Given the description of an element on the screen output the (x, y) to click on. 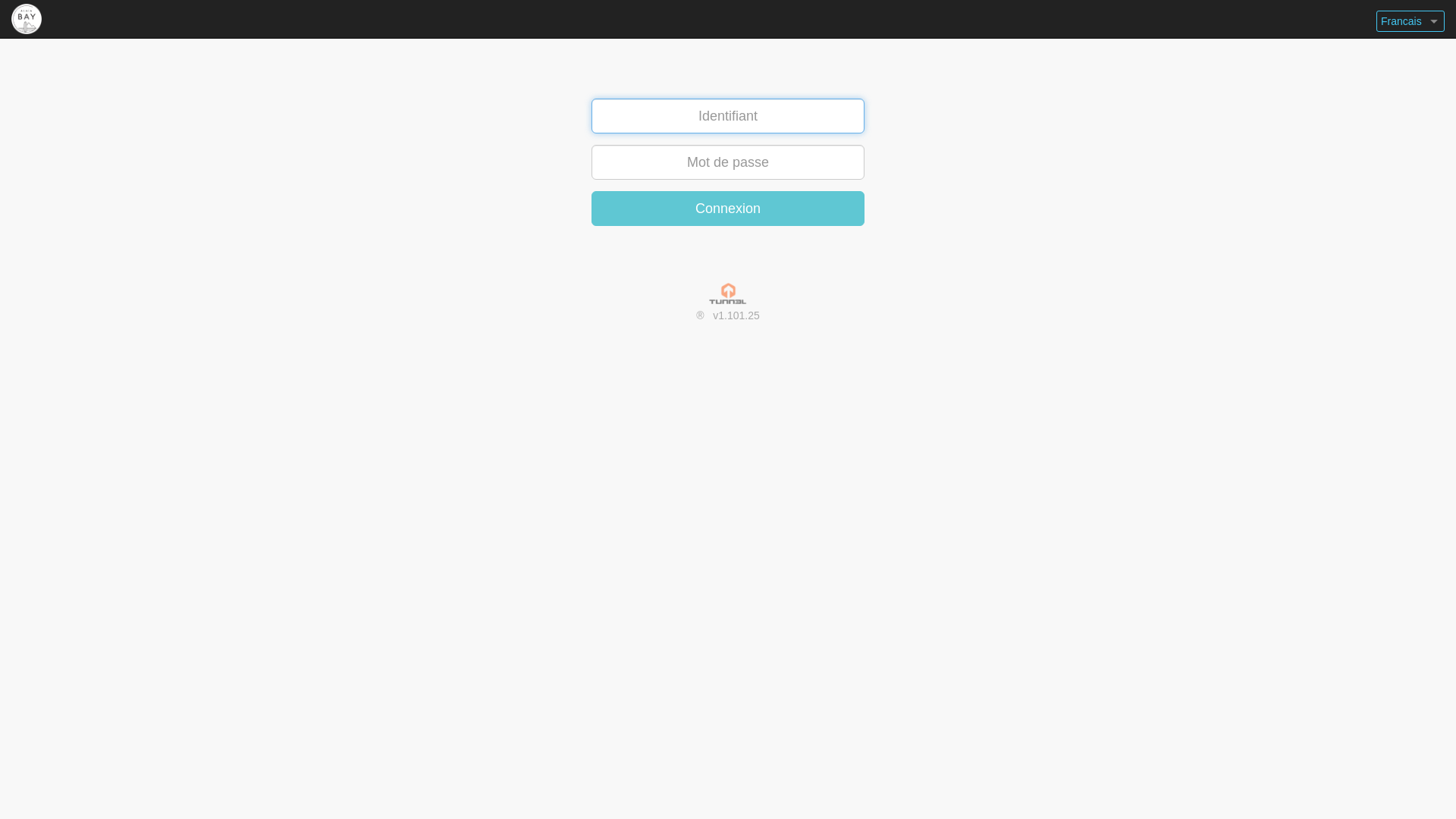
Connexion Element type: text (727, 208)
